Given the description of an element on the screen output the (x, y) to click on. 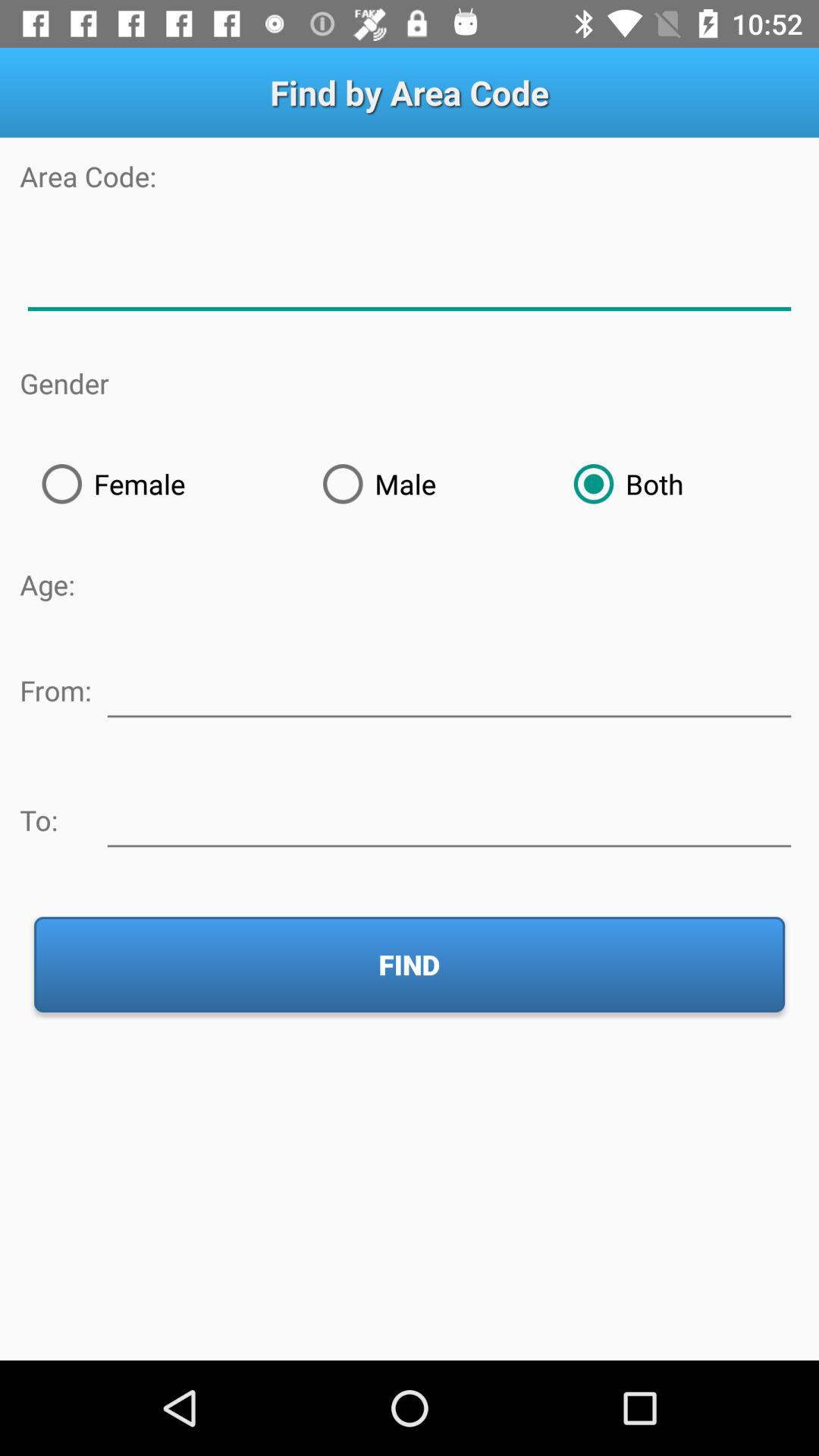
press the radio button to the right of female item (426, 483)
